Given the description of an element on the screen output the (x, y) to click on. 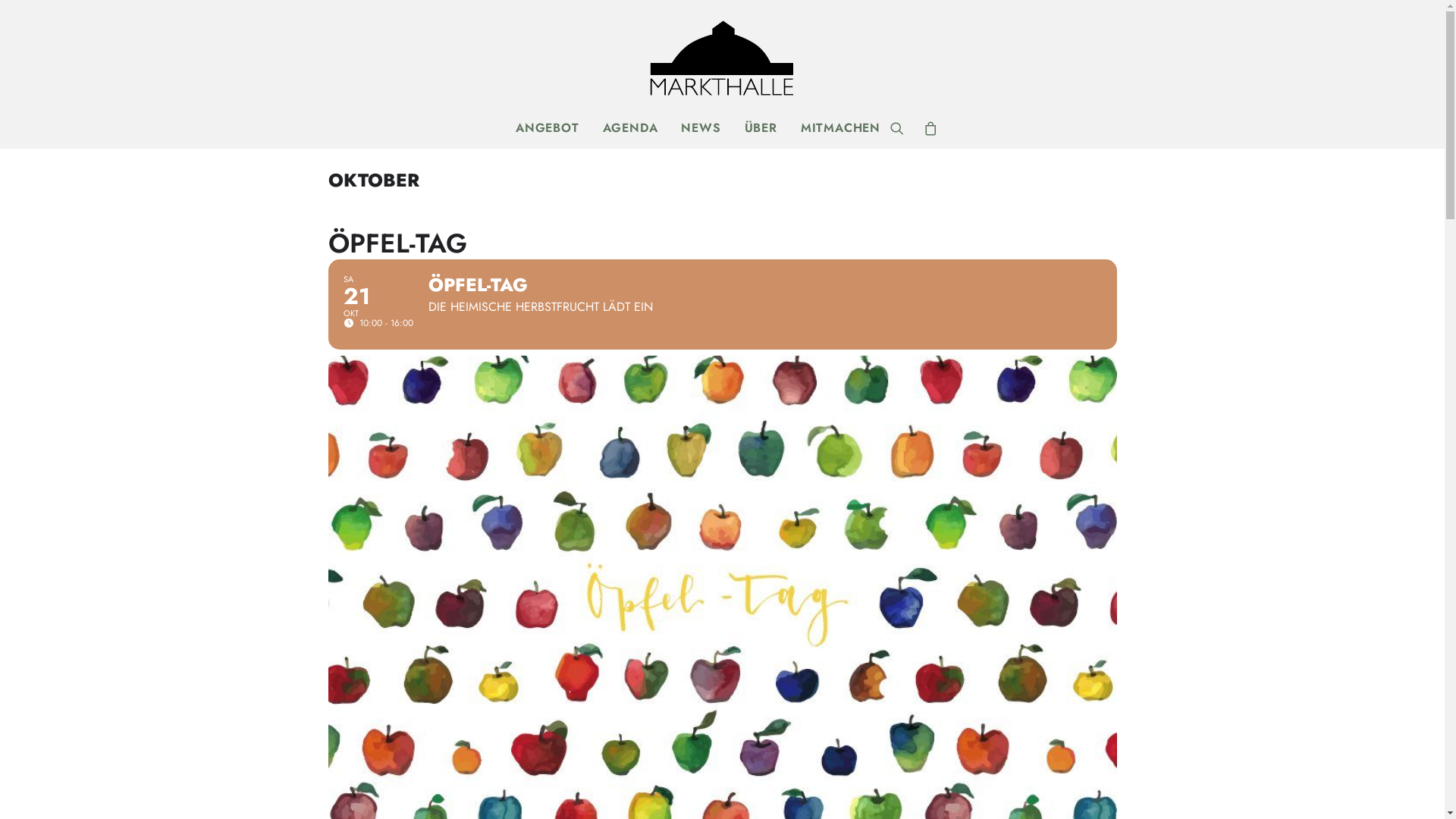
NEWS Element type: text (700, 127)
MITMACHEN Element type: text (835, 127)
AGENDA Element type: text (630, 127)
cart Element type: hover (925, 127)
ANGEBOT Element type: text (547, 127)
